Given the description of an element on the screen output the (x, y) to click on. 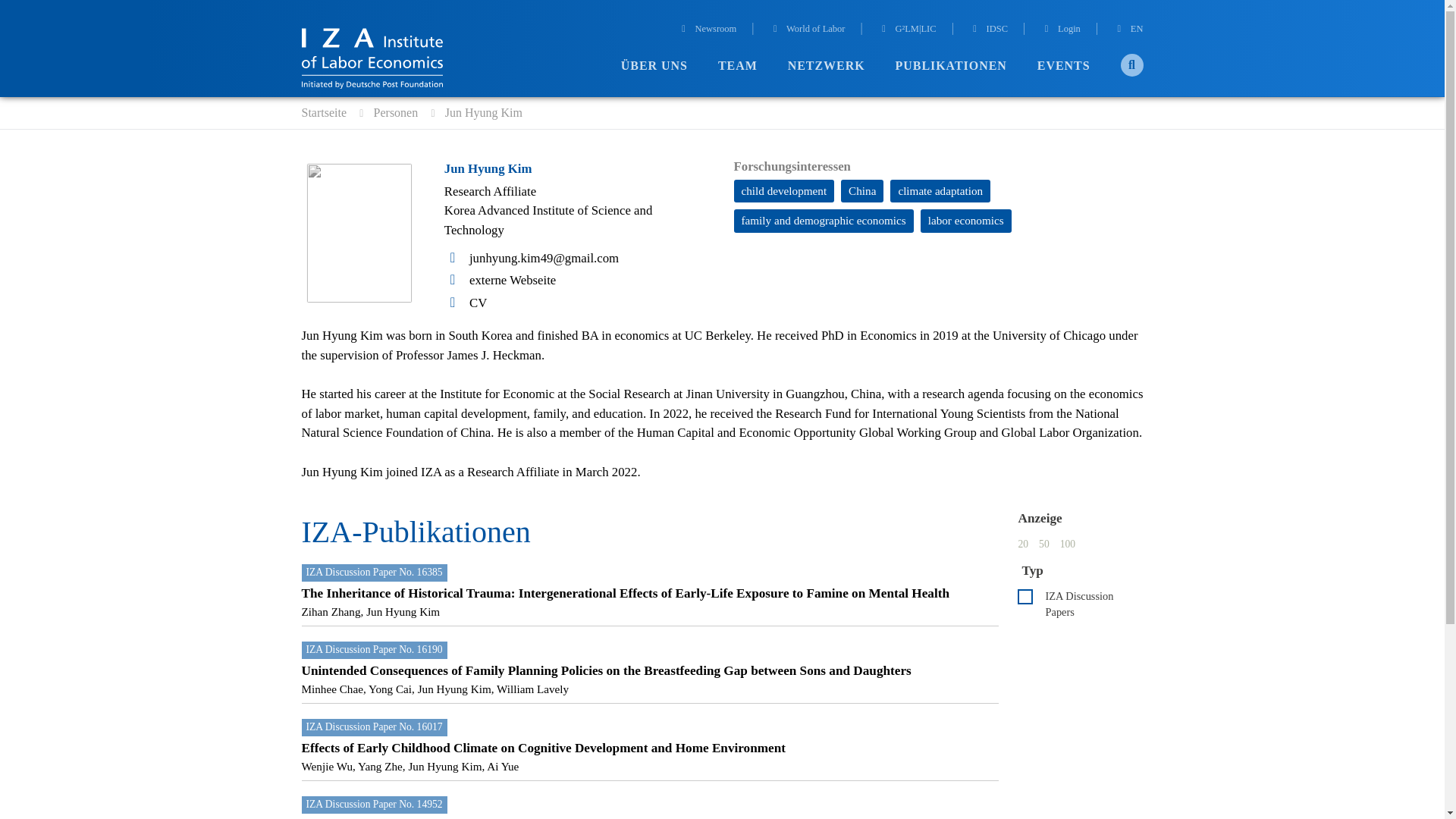
IDSC (988, 30)
Login (1060, 30)
EVENTS (1063, 66)
dp (1024, 596)
EN (1127, 30)
World of Labor (807, 30)
PUBLIKATIONEN (951, 66)
NETZWERK (825, 66)
Newsroom (707, 30)
TEAM (737, 66)
